Given the description of an element on the screen output the (x, y) to click on. 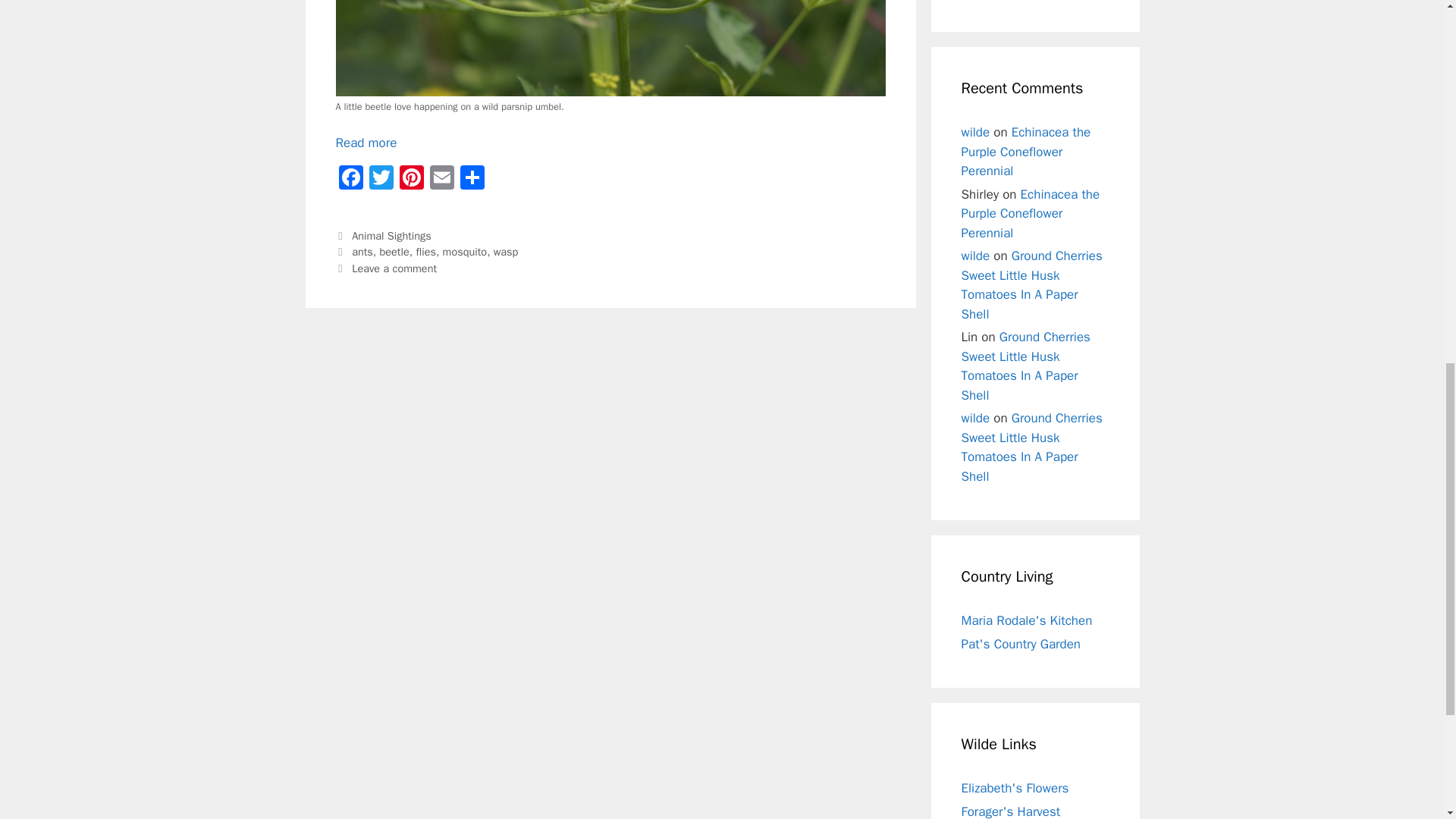
The Many Pollinators of Wild Parsnips (365, 142)
Leave a comment (394, 268)
Echinacea the Purple Coneflower Perennial (1030, 213)
Pinterest (411, 179)
Email (441, 179)
wilde (975, 132)
Email (441, 179)
beetle (394, 251)
Pinterest (411, 179)
wilde (975, 255)
